Given the description of an element on the screen output the (x, y) to click on. 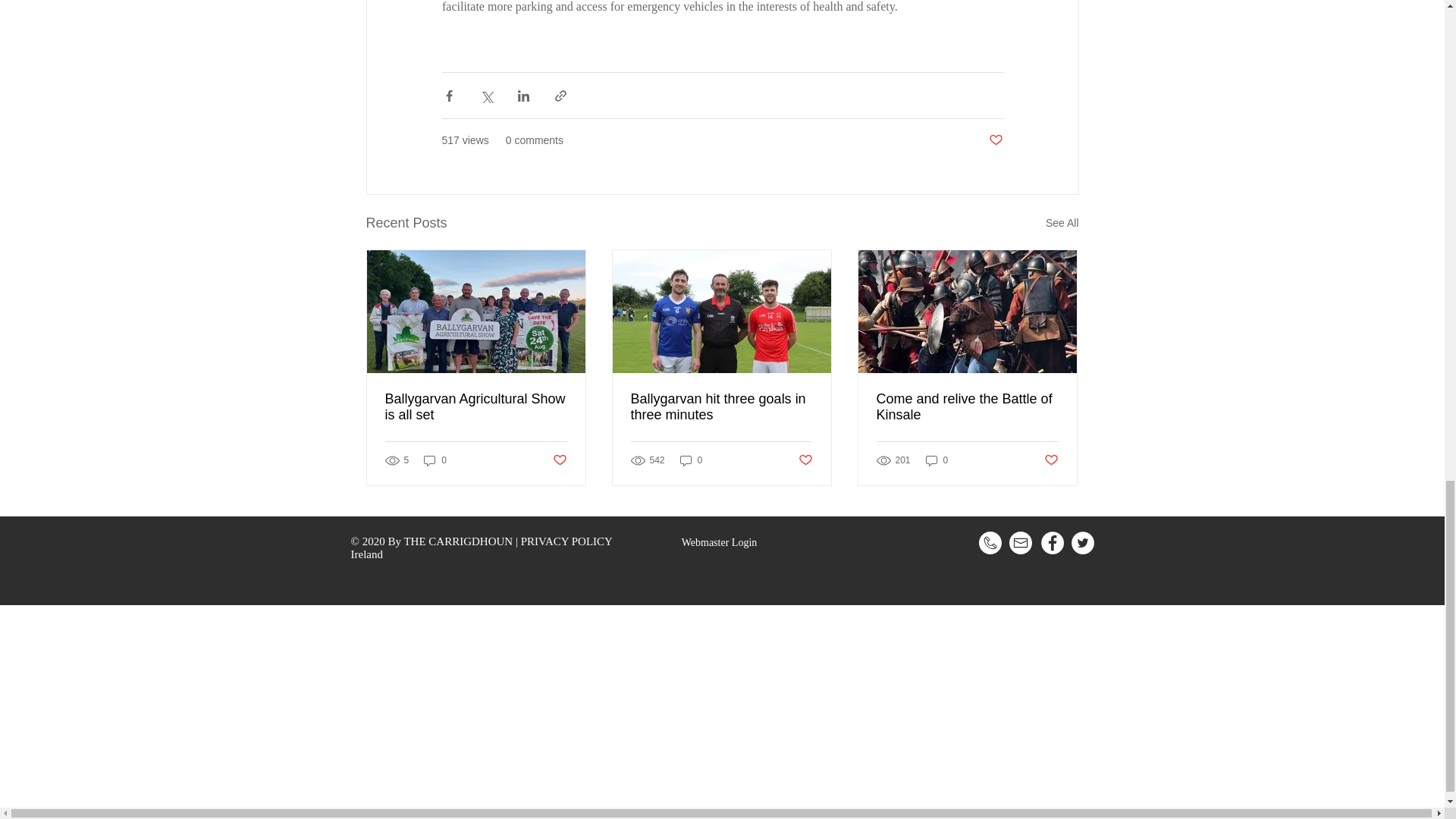
Ballygarvan Agricultural Show is all set (476, 407)
0 (937, 460)
PRIVACY POLICY (566, 541)
Post not marked as liked (558, 459)
Ballygarvan hit three goals in three minutes (721, 407)
0 (691, 460)
Come and relive the Battle of Kinsale (967, 407)
Post not marked as liked (1050, 459)
Post not marked as liked (804, 459)
Webmaster Login (718, 542)
